Given the description of an element on the screen output the (x, y) to click on. 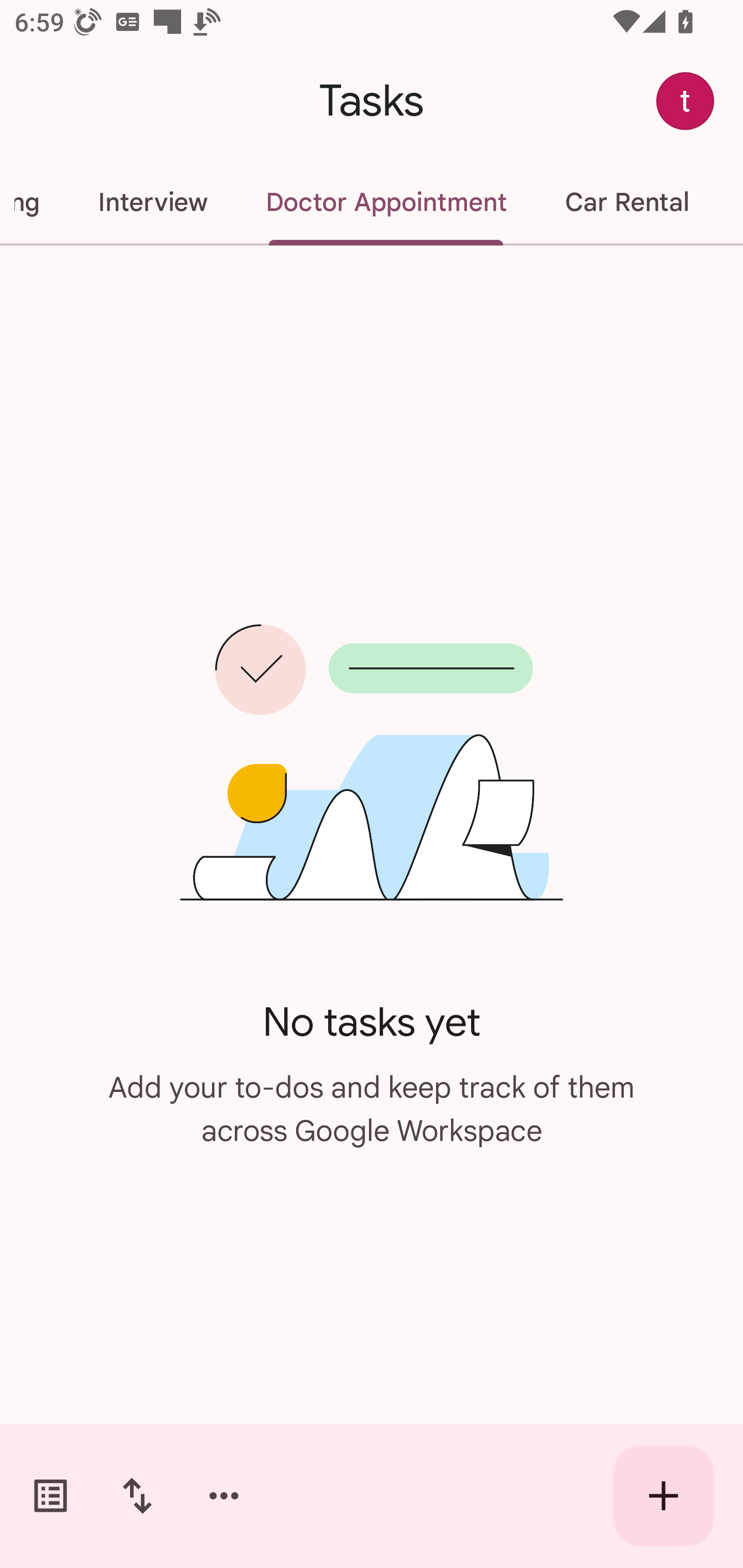
Interview (152, 202)
Car Rental (626, 202)
Switch task lists (50, 1495)
Create new task (663, 1495)
Change sort order (136, 1495)
More options (223, 1495)
